Given the description of an element on the screen output the (x, y) to click on. 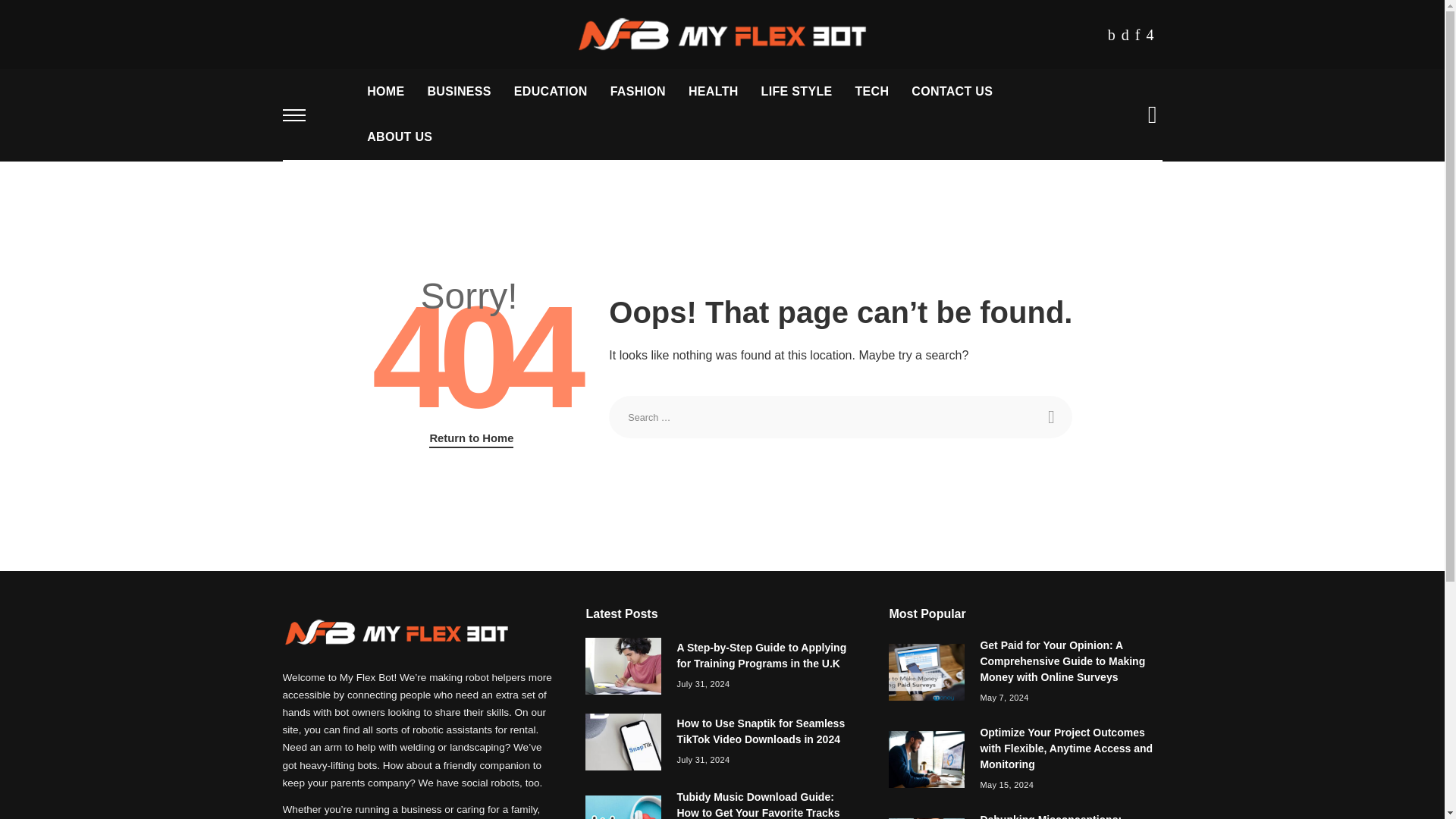
BUSINESS (458, 91)
HEALTH (713, 91)
TECH (871, 91)
LIFE STYLE (796, 91)
Myflexbot (722, 34)
FASHION (637, 91)
Search (1050, 416)
Search (1050, 416)
CONTACT US (951, 91)
Return to Home (471, 438)
EDUCATION (550, 91)
HOME (384, 91)
